Given the description of an element on the screen output the (x, y) to click on. 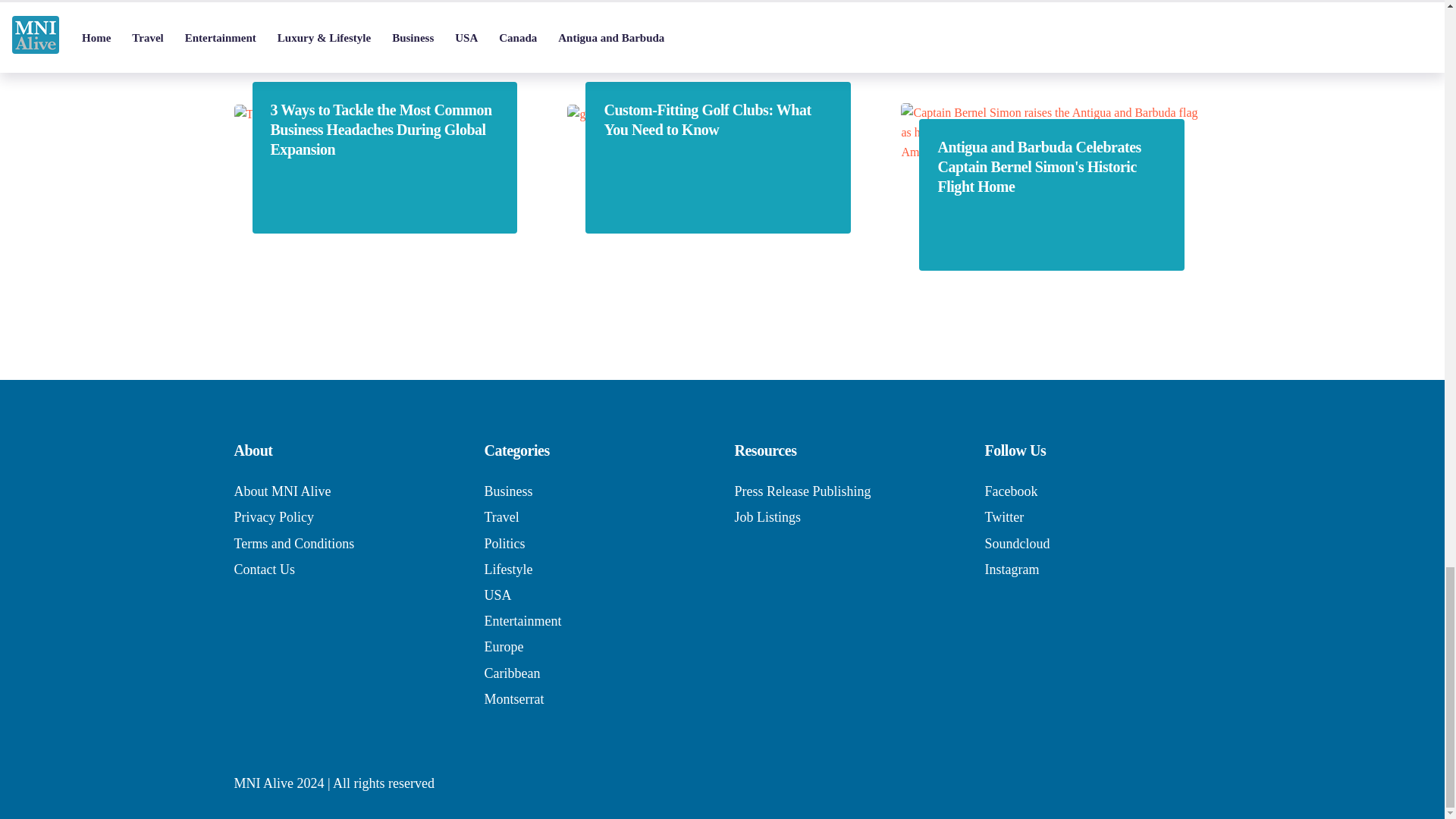
Contact Us (263, 569)
Montserrat (513, 698)
Press Release Publishing (801, 491)
Soundcloud (1016, 543)
Politics (503, 543)
Facebook (1010, 491)
Lifestyle (507, 569)
Terms and Conditions (292, 543)
Travel (500, 516)
Twitter (1003, 516)
Custom-Fitting Golf Clubs: What You Need to Know (717, 119)
USA (497, 595)
Business (507, 491)
